Given the description of an element on the screen output the (x, y) to click on. 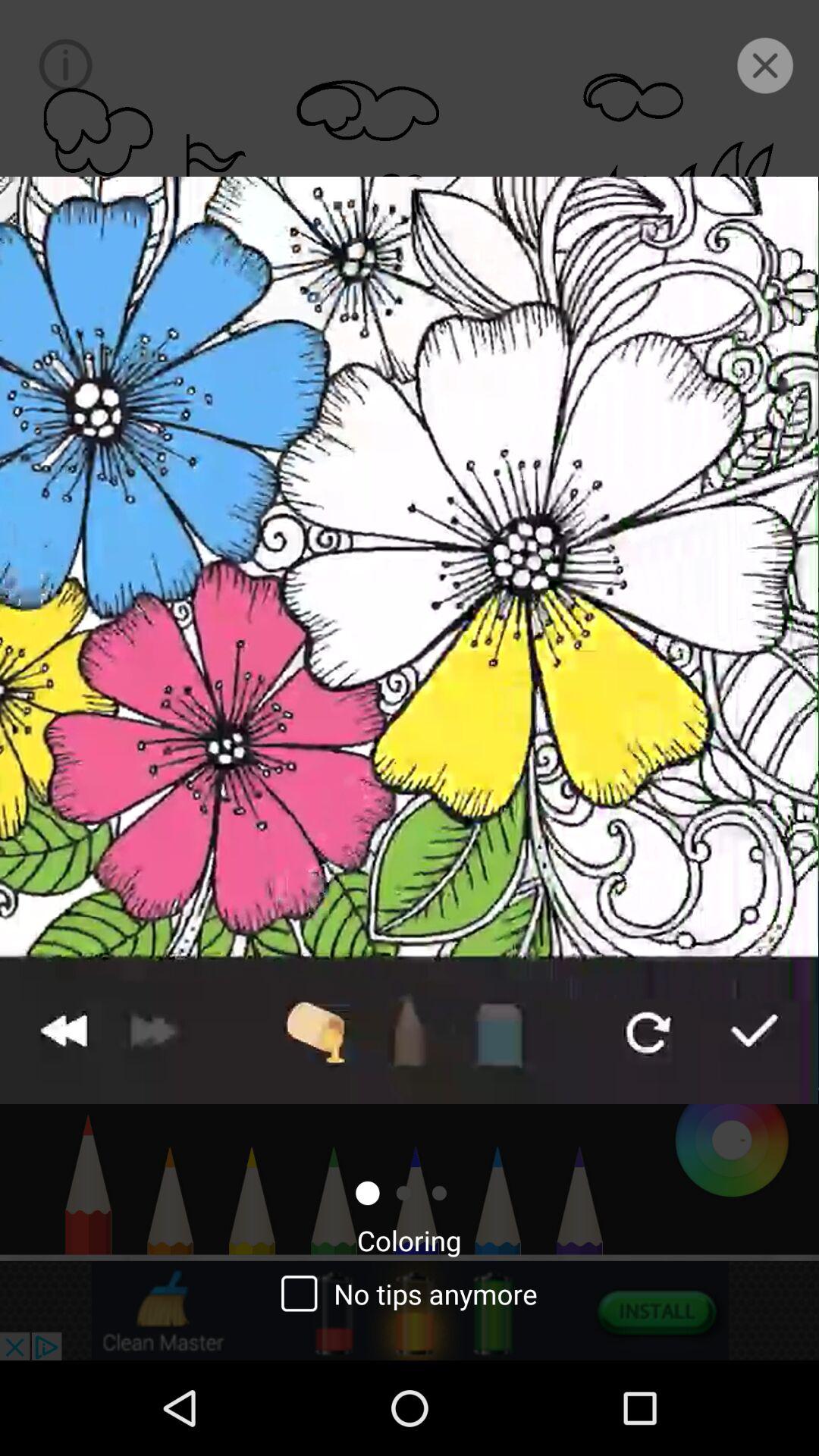
close the page (765, 65)
